Given the description of an element on the screen output the (x, y) to click on. 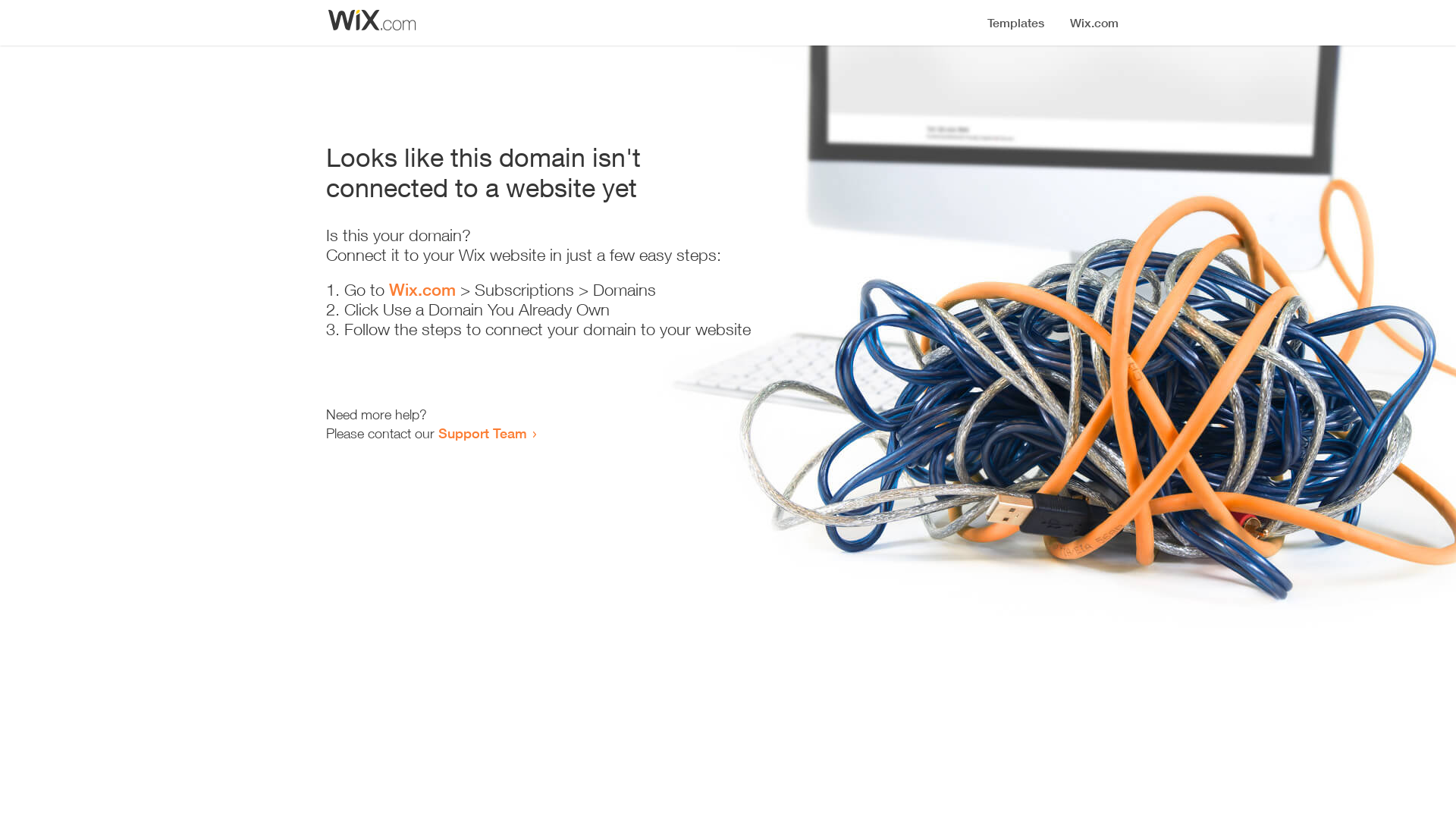
Support Team Element type: text (482, 432)
Wix.com Element type: text (422, 289)
